Given the description of an element on the screen output the (x, y) to click on. 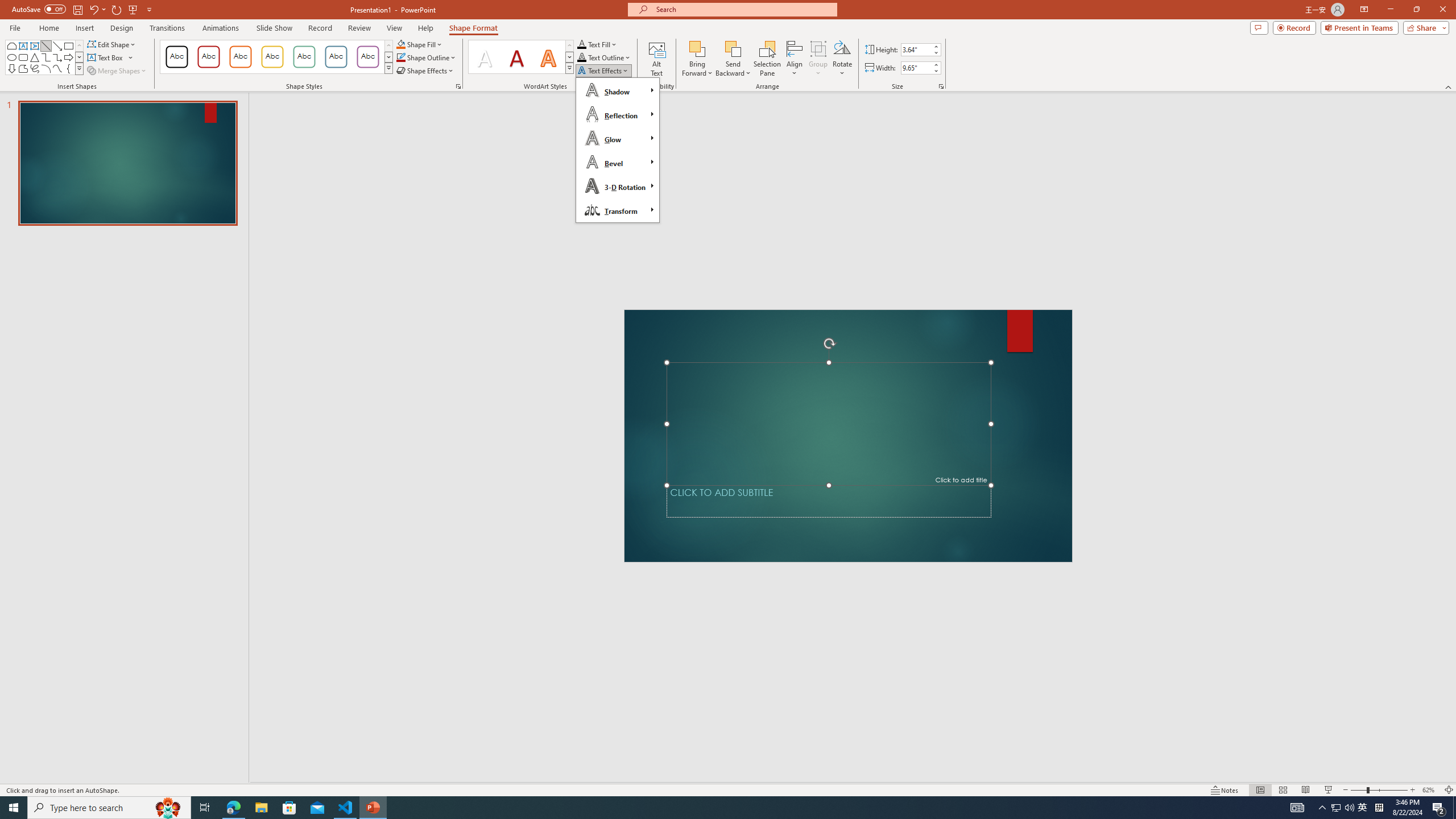
Text Effects (603, 69)
Selection Pane... (767, 58)
Text Fill (596, 44)
